Given the description of an element on the screen output the (x, y) to click on. 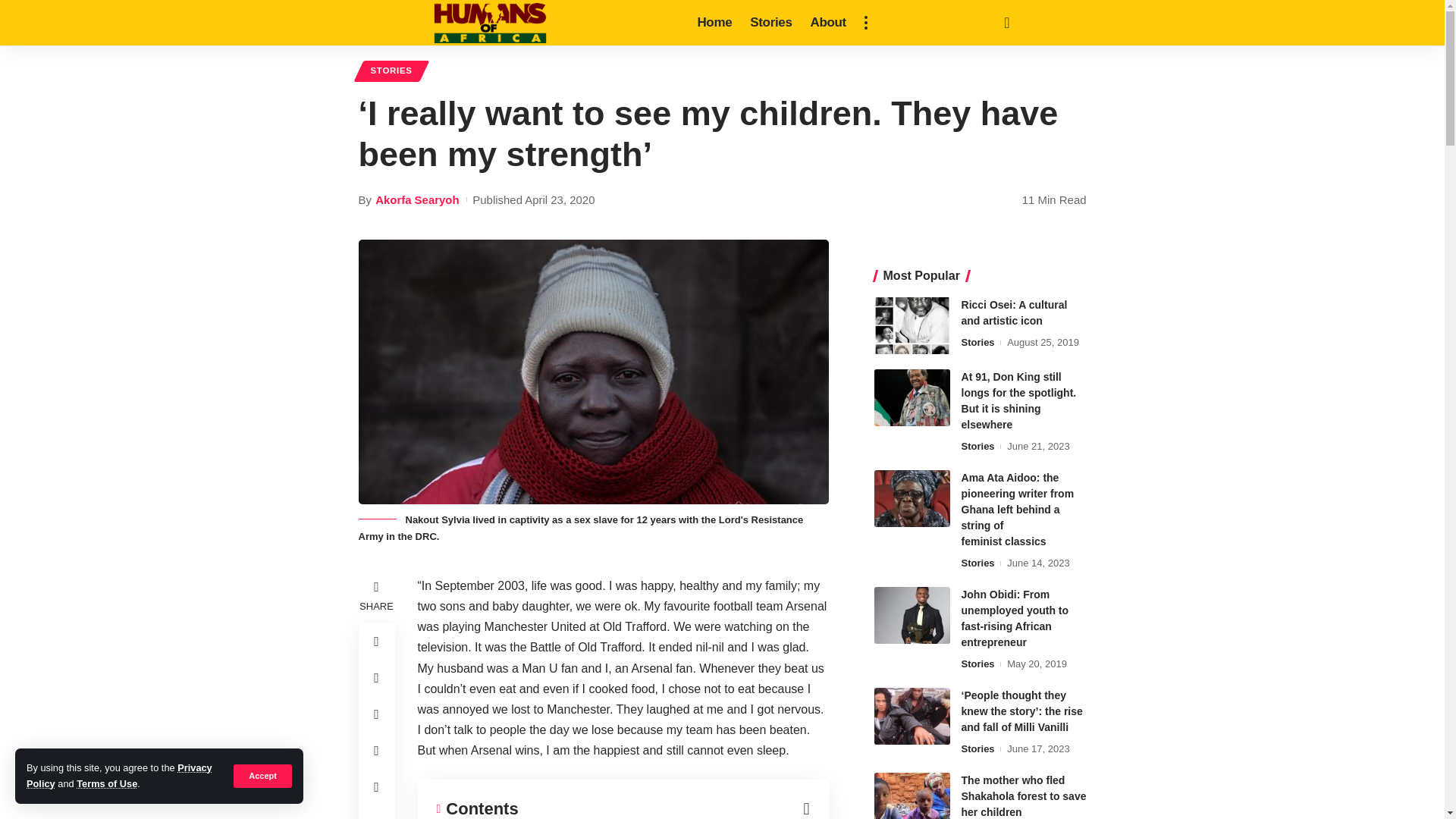
Accept (262, 775)
Ricci Osei: A cultural and artistic icon (912, 325)
Humans of Africa (489, 22)
Terms of Use (106, 783)
The mother who fled Shakahola forest to save her children (912, 796)
Home (714, 22)
Stories (770, 22)
Akorfa Searyoh (416, 198)
